Given the description of an element on the screen output the (x, y) to click on. 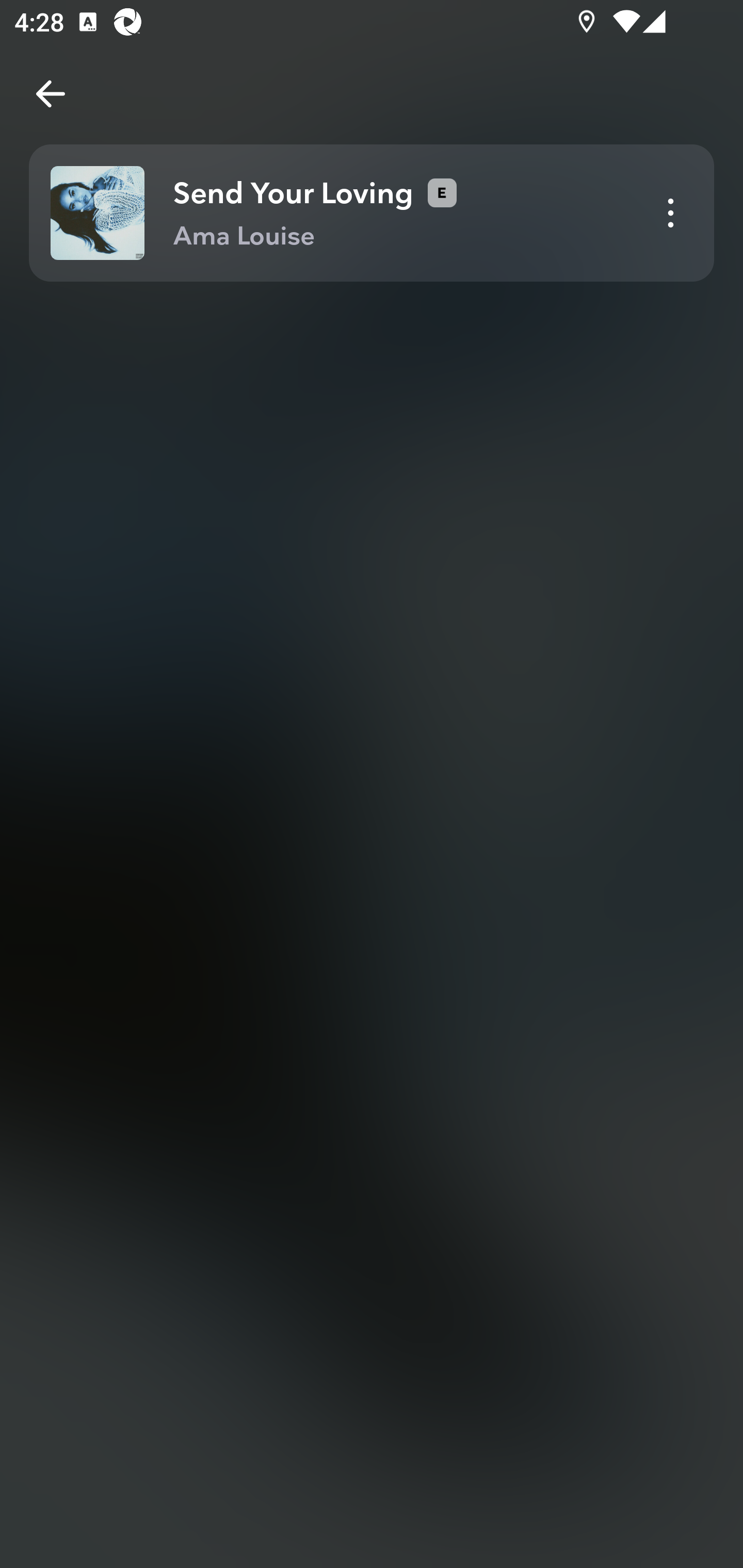
Send Your Loving Ama Louise (371, 213)
